Given the description of an element on the screen output the (x, y) to click on. 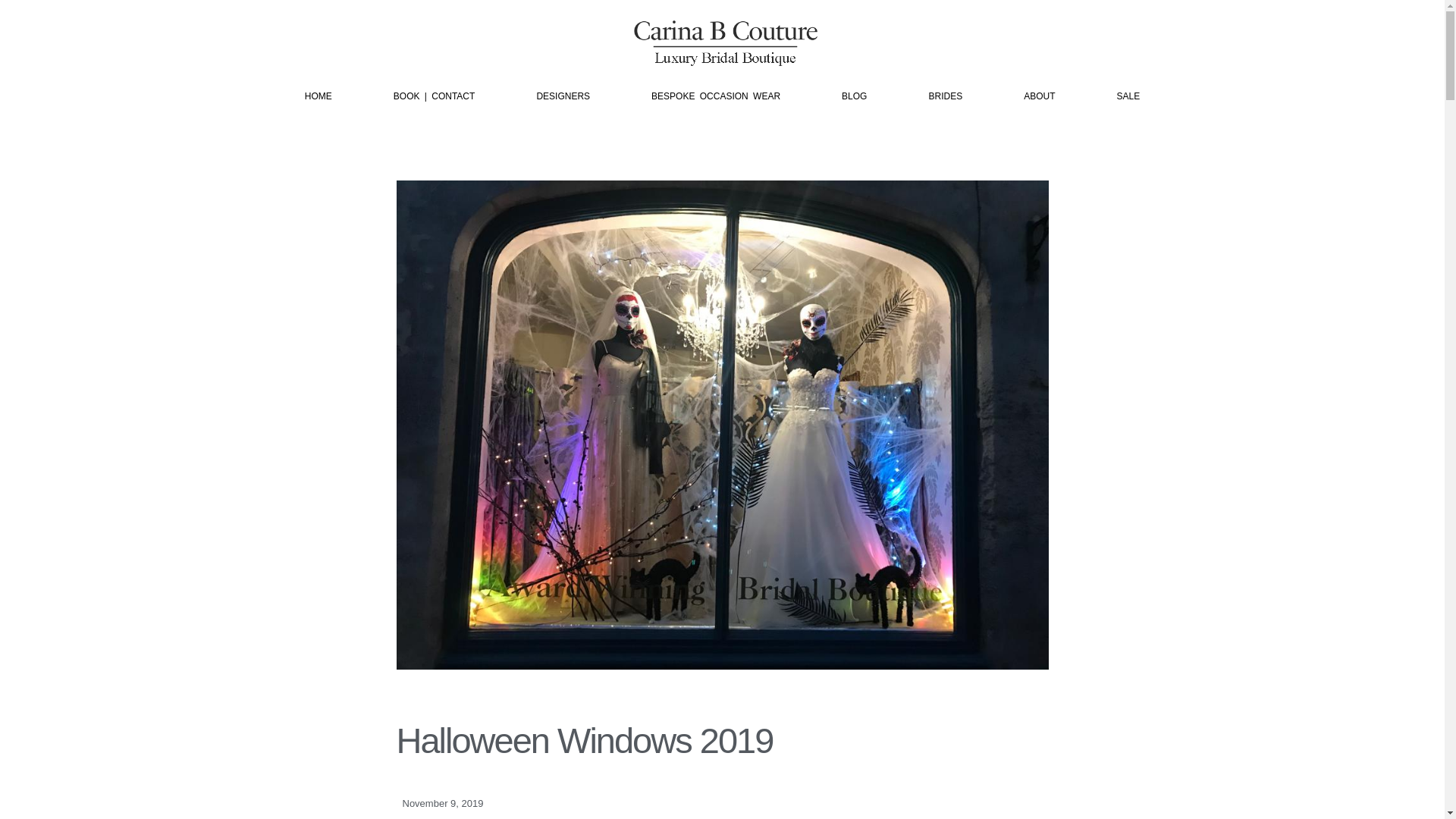
BRIDES (944, 96)
BESPOKE OCCASION WEAR (715, 96)
DESIGNERS (563, 96)
BLOG (854, 96)
SALE (1127, 96)
HOME (318, 96)
ABOUT (1039, 96)
